Given the description of an element on the screen output the (x, y) to click on. 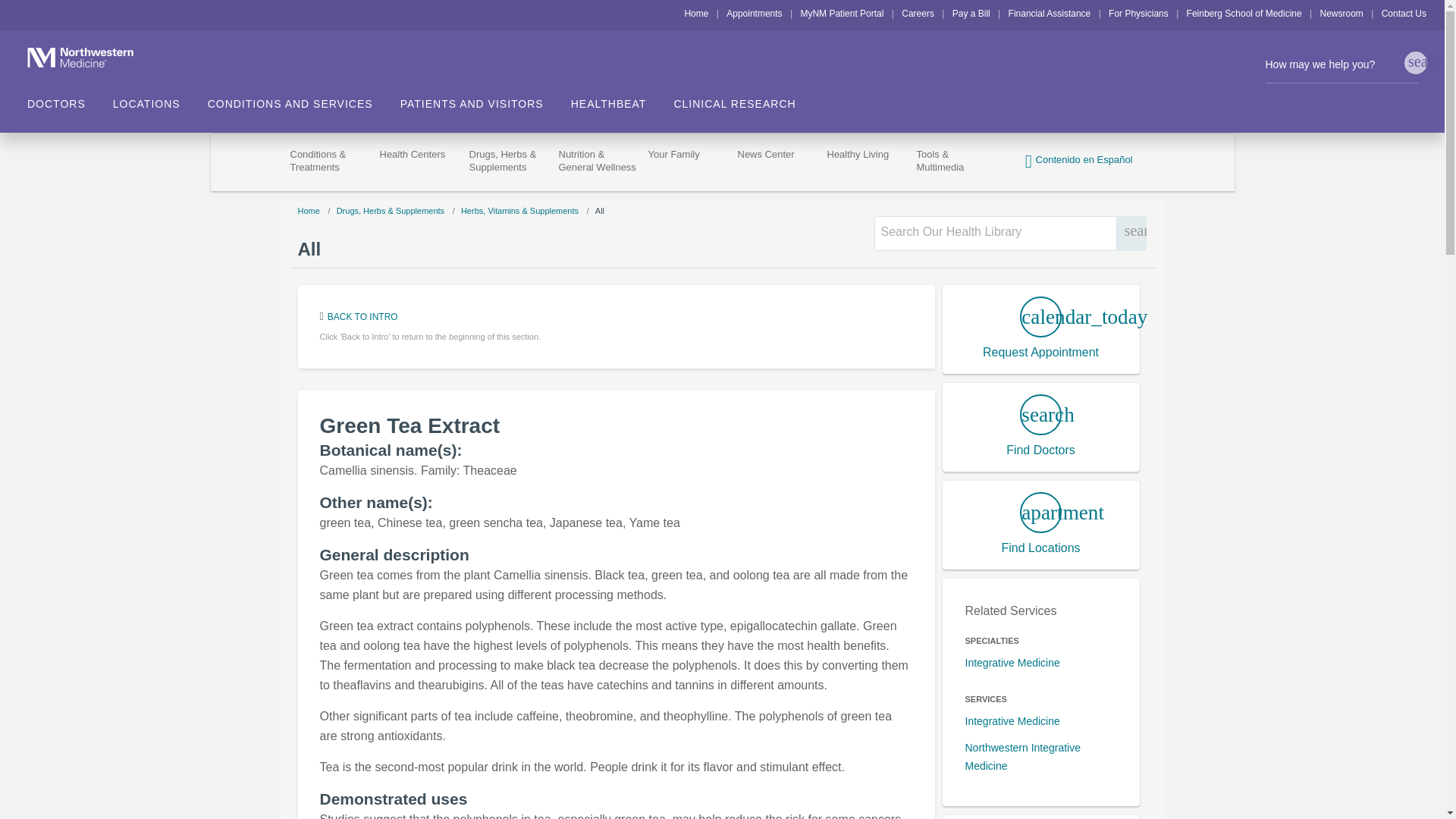
Feinberg School of Medicine (1243, 13)
Pay a Bill (971, 13)
CLINICAL RESEARCH (733, 99)
Home (695, 13)
DOCTORS (70, 99)
Feinberg School of Medicine - opens in a new window (1243, 13)
Careers (917, 13)
Careers - opens in a new window (917, 13)
CONDITIONS AND SERVICES (304, 99)
HEALTHBEAT (622, 99)
Home (695, 13)
Financial Assistance (1049, 13)
Financial Assistance (1049, 13)
